Given the description of an element on the screen output the (x, y) to click on. 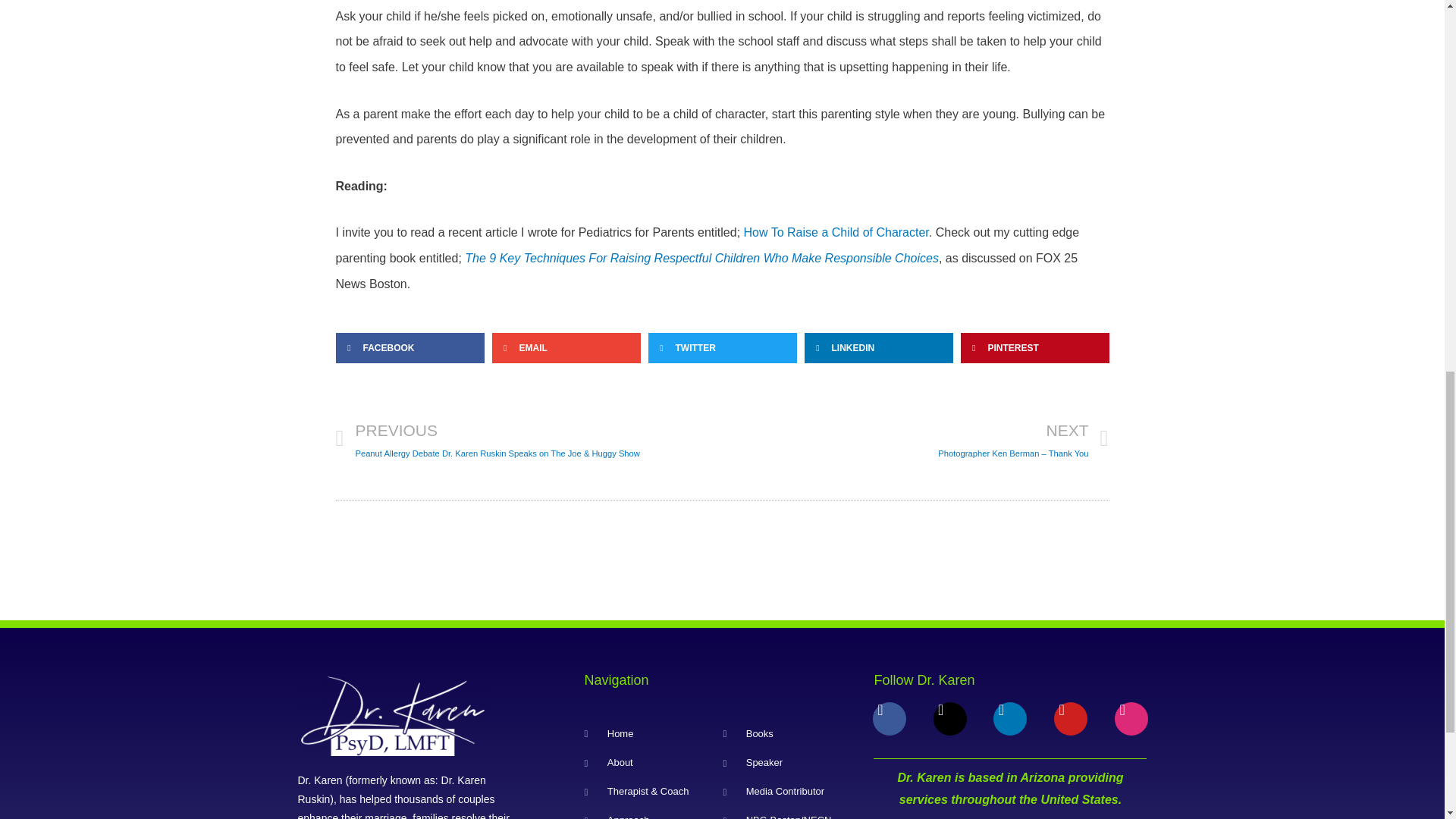
Dr. Karen Explains How To Raise a Child of Character (836, 232)
